Given the description of an element on the screen output the (x, y) to click on. 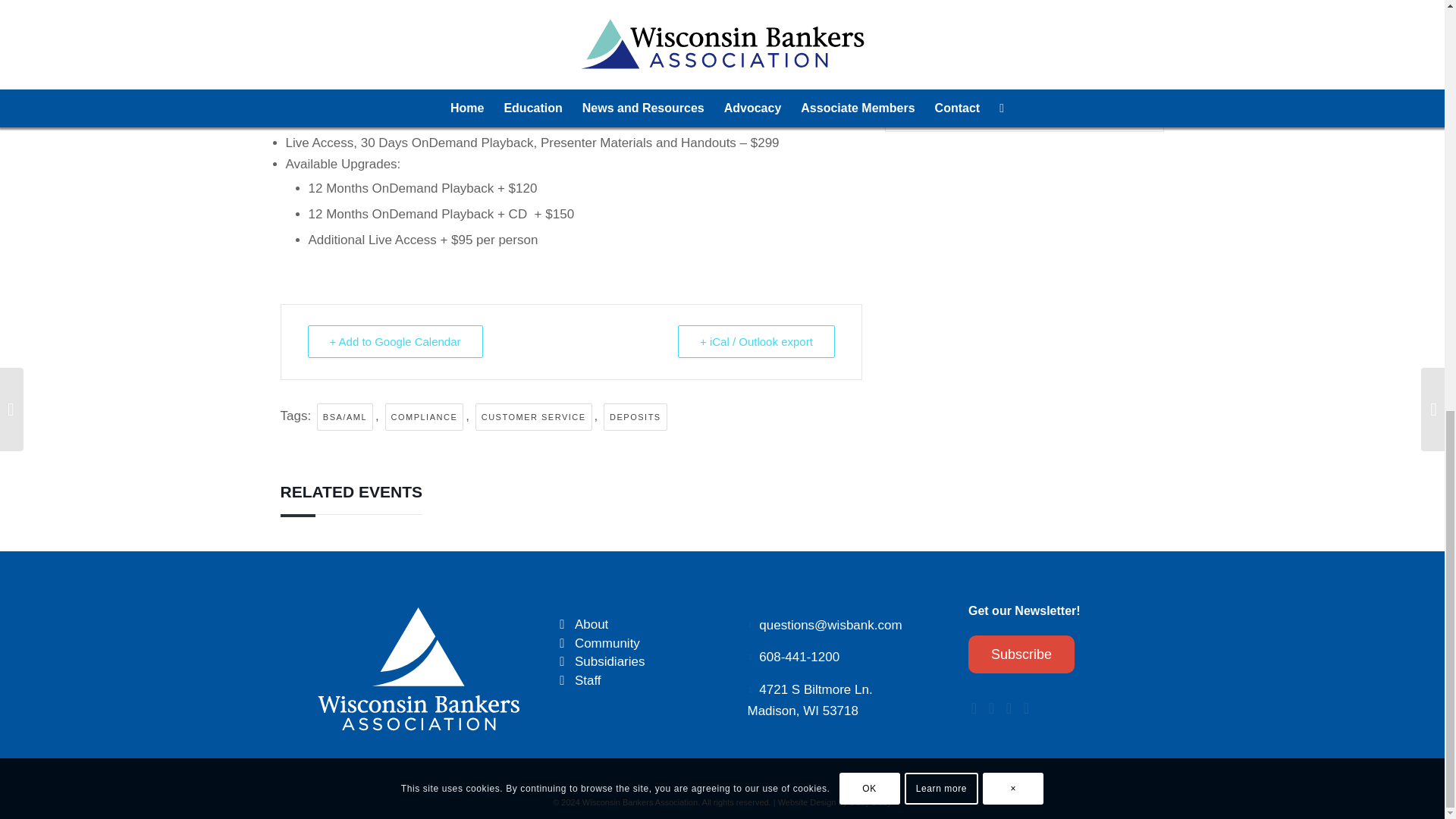
Subsidiaries (610, 661)
Community (562, 643)
Staff (588, 680)
CUSTOMER SERVICE (534, 416)
About (591, 624)
608-441-1200 (799, 657)
Tweet (810, 700)
COMPLIANCE (1005, 81)
Share on Facebook (424, 416)
Community (971, 81)
Email (607, 643)
Linkedin (1073, 81)
About (1039, 81)
WBA-Wisconsin-bankers-association-Footer-logo (562, 624)
